Given the description of an element on the screen output the (x, y) to click on. 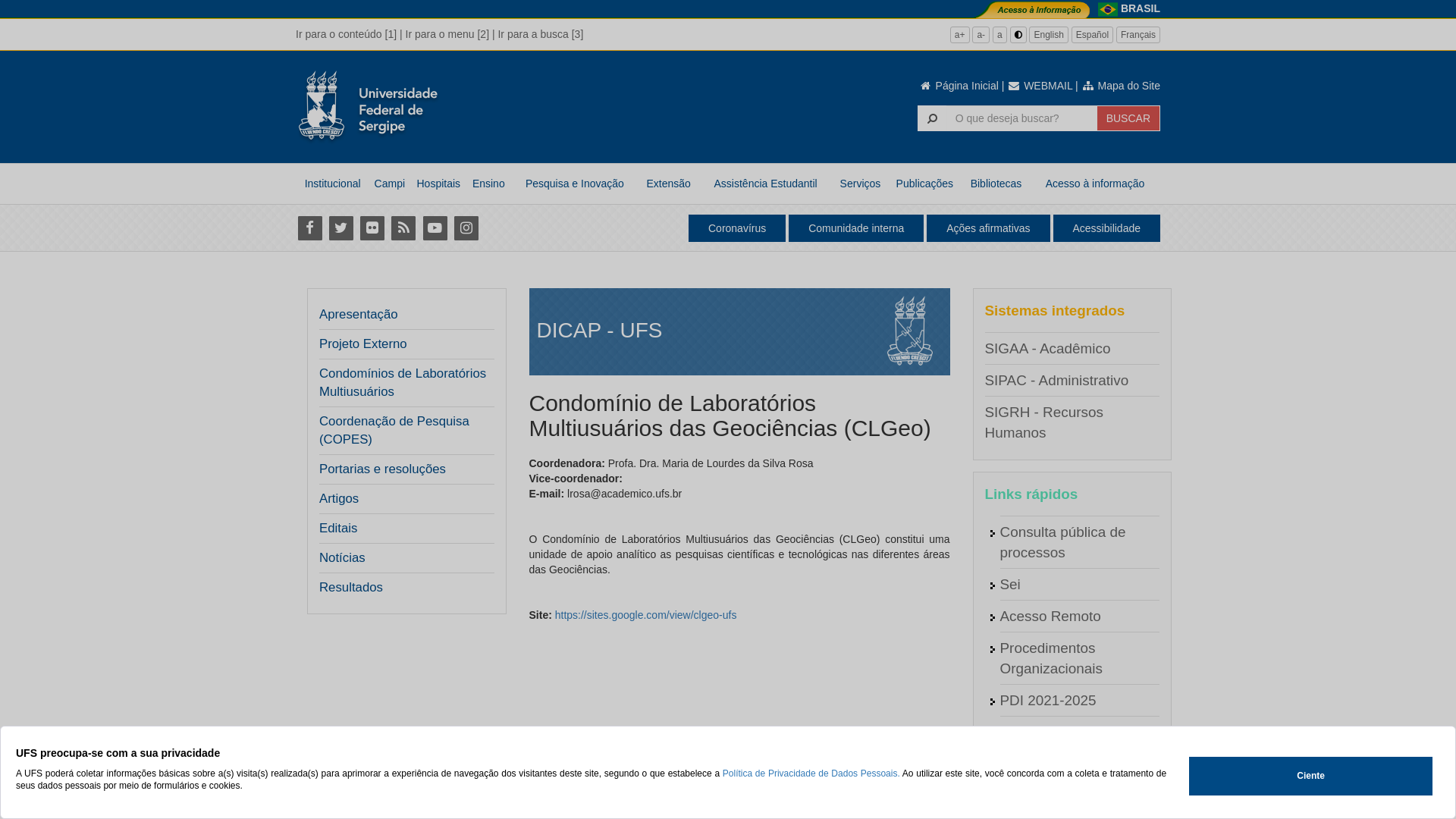
BRASIL Element type: text (1140, 8)
https://sites.google.com/view/clgeo-ufs Element type: text (646, 614)
Instagram Element type: text (465, 227)
Twitter Element type: text (340, 227)
Ir para a busca [3] Element type: text (540, 34)
Facebook Element type: text (309, 227)
a Element type: text (999, 34)
Acessibilidade Element type: text (1106, 227)
Bibliotecas Element type: text (995, 183)
Institucional Element type: text (332, 183)
Ir para o menu [2] Element type: text (447, 34)
Sei Element type: text (1009, 584)
Acesso Remoto Element type: text (1049, 616)
a- Element type: text (980, 34)
Flickr Element type: text (371, 227)
WEBMAIL Element type: text (1039, 85)
SIPAC - Administrativo Element type: text (1056, 380)
Campi Element type: text (389, 183)
Telefones Element type: text (1029, 795)
Mapa do Site Element type: text (1120, 85)
Agenda do Vice-Reitor Element type: text (1071, 763)
Editais Element type: text (338, 528)
Resultados Element type: text (350, 587)
Artigos Element type: text (338, 498)
Hospitais Element type: text (438, 183)
a+ Element type: text (959, 34)
Youtube Element type: text (434, 227)
Comunidade interna Element type: text (855, 227)
Projeto Externo Element type: text (363, 343)
English Element type: text (1048, 34)
Agenda do Reitor Element type: text (1054, 732)
SIGRH - Recursos Humanos Element type: text (1043, 422)
RSS Element type: text (403, 227)
PDI 2021-2025 Element type: text (1047, 700)
Procedimentos Organizacionais Element type: text (1050, 658)
BUSCAR Element type: text (1128, 118)
Ensino Element type: text (488, 183)
